Given the description of an element on the screen output the (x, y) to click on. 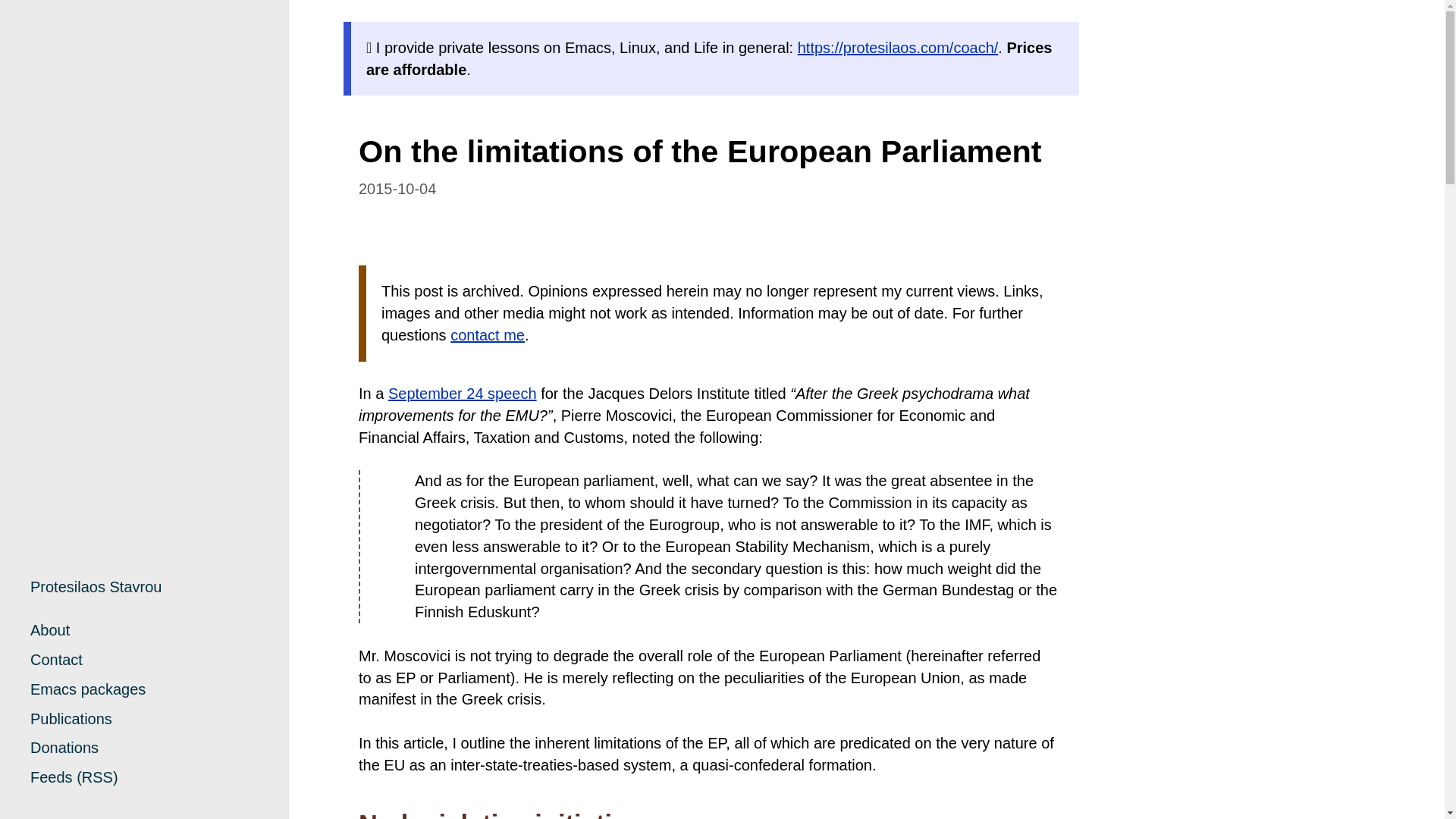
About (49, 629)
Protesilaos Stavrou (95, 586)
Emacs packages (87, 688)
contact me (486, 334)
Publications (71, 718)
Donations (64, 747)
September 24 speech (462, 393)
Contact (56, 659)
